Given the description of an element on the screen output the (x, y) to click on. 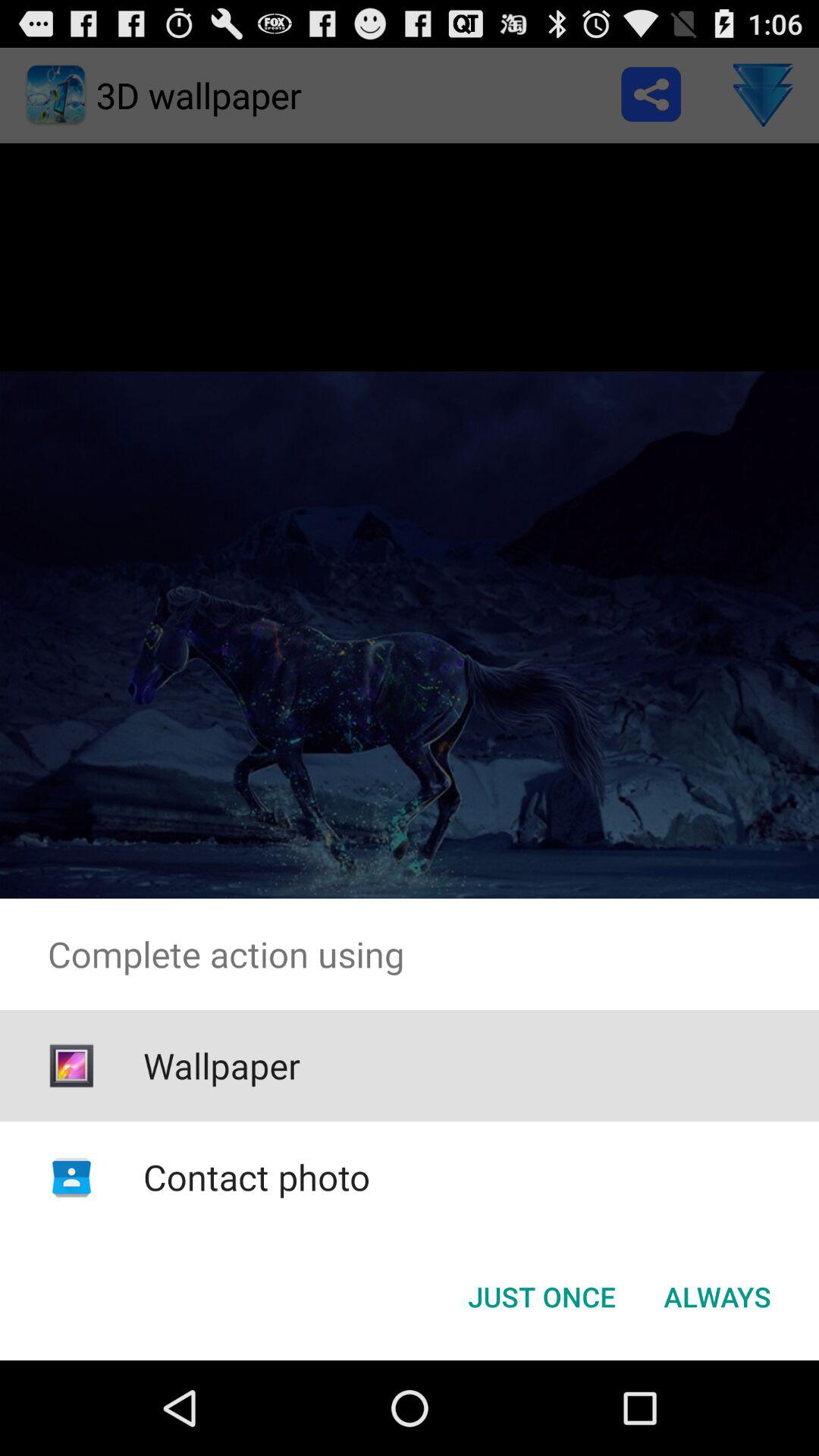
tap icon at the bottom (541, 1296)
